Given the description of an element on the screen output the (x, y) to click on. 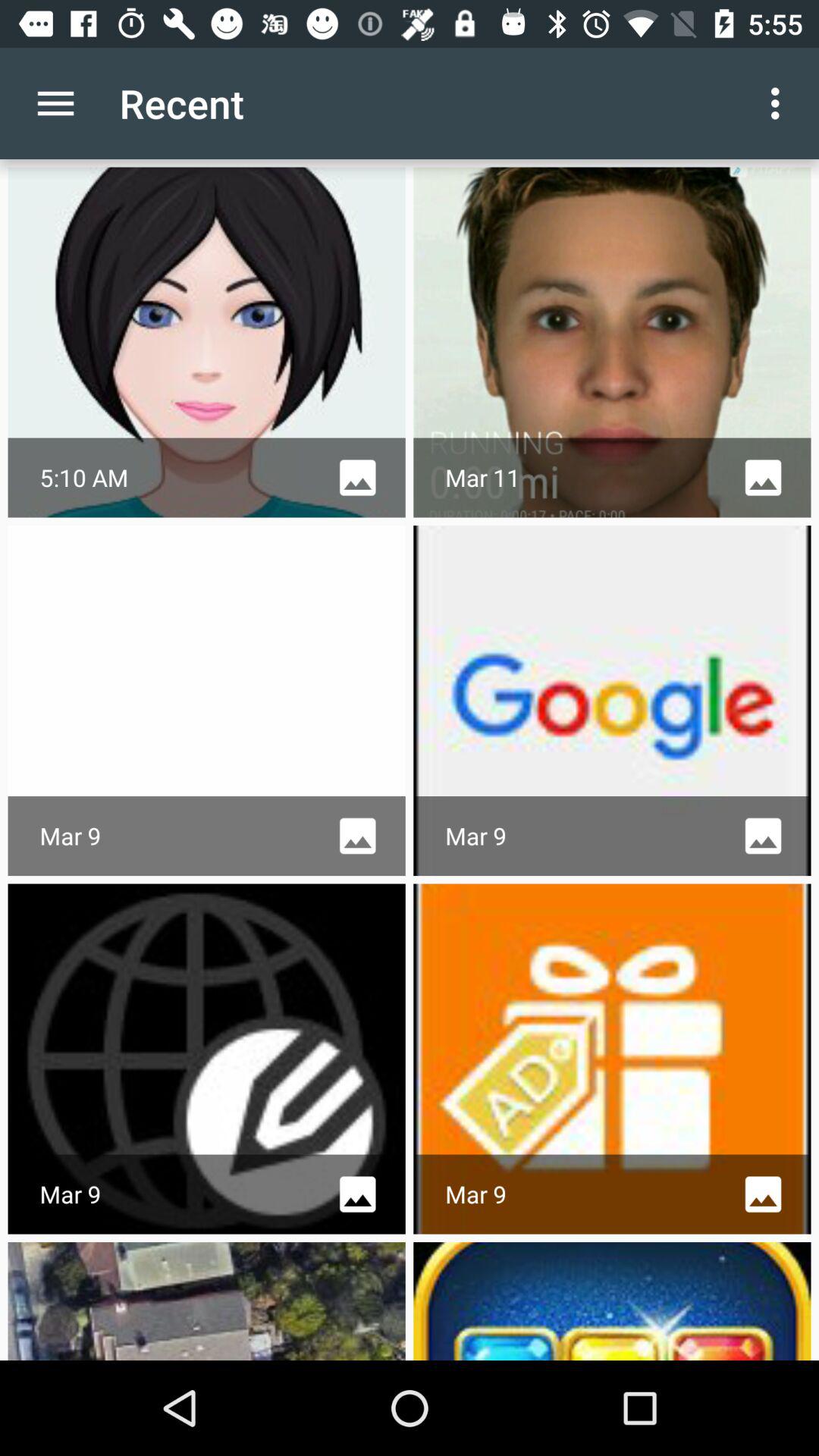
turn off the item next to recent item (55, 103)
